Given the description of an element on the screen output the (x, y) to click on. 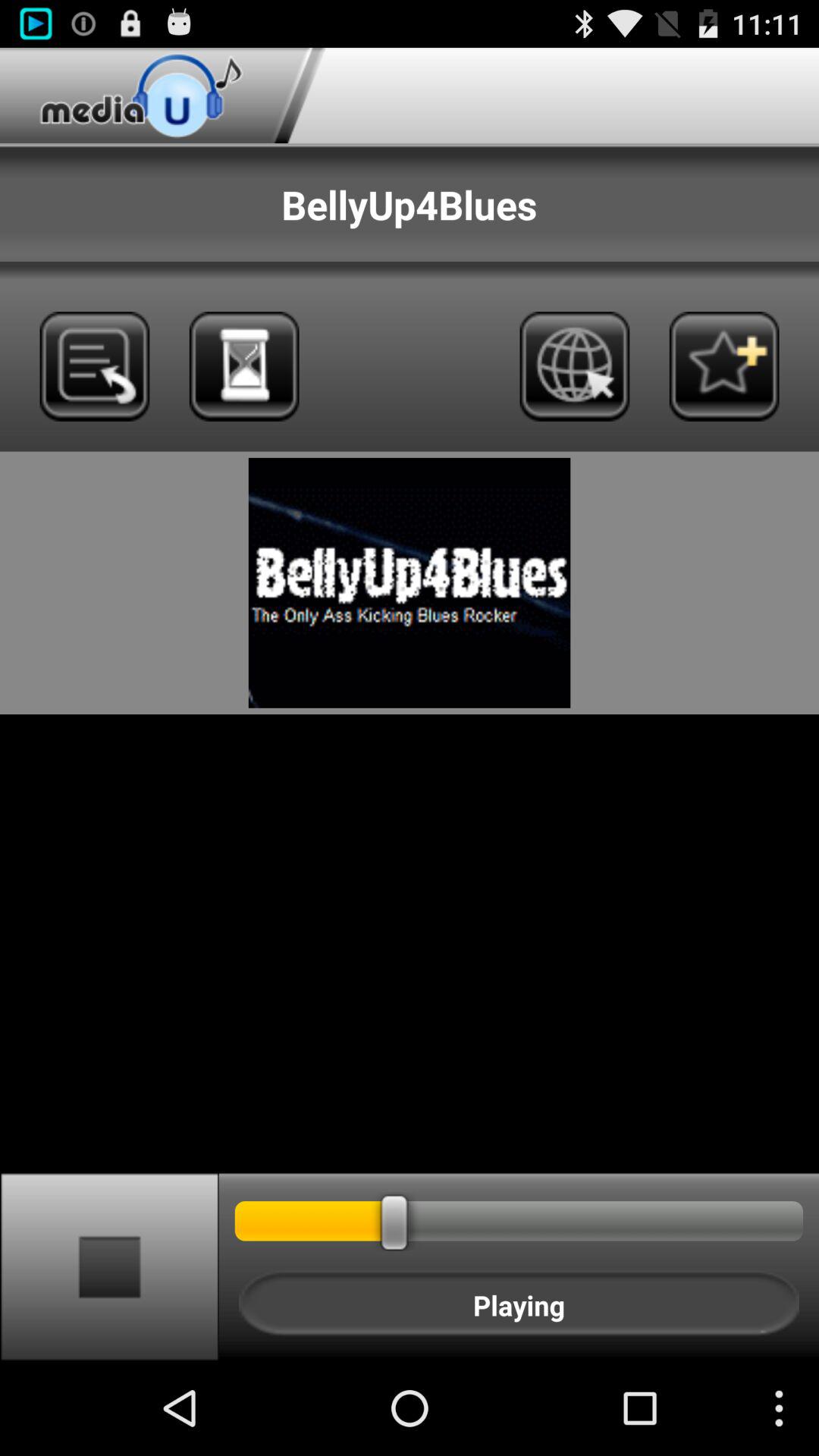
count down option clock radio (244, 366)
